Given the description of an element on the screen output the (x, y) to click on. 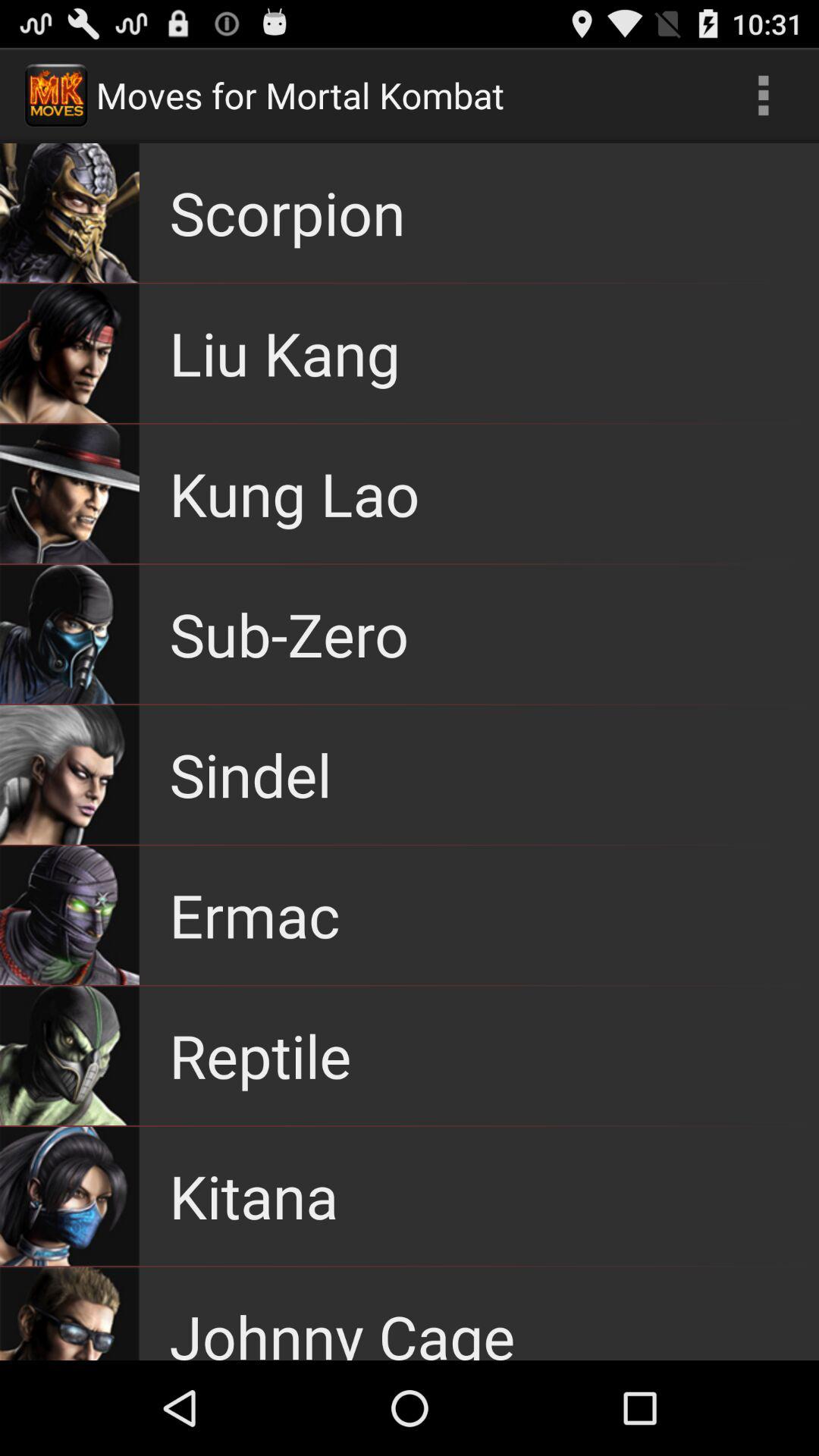
select the app next to moves for mortal app (763, 95)
